Given the description of an element on the screen output the (x, y) to click on. 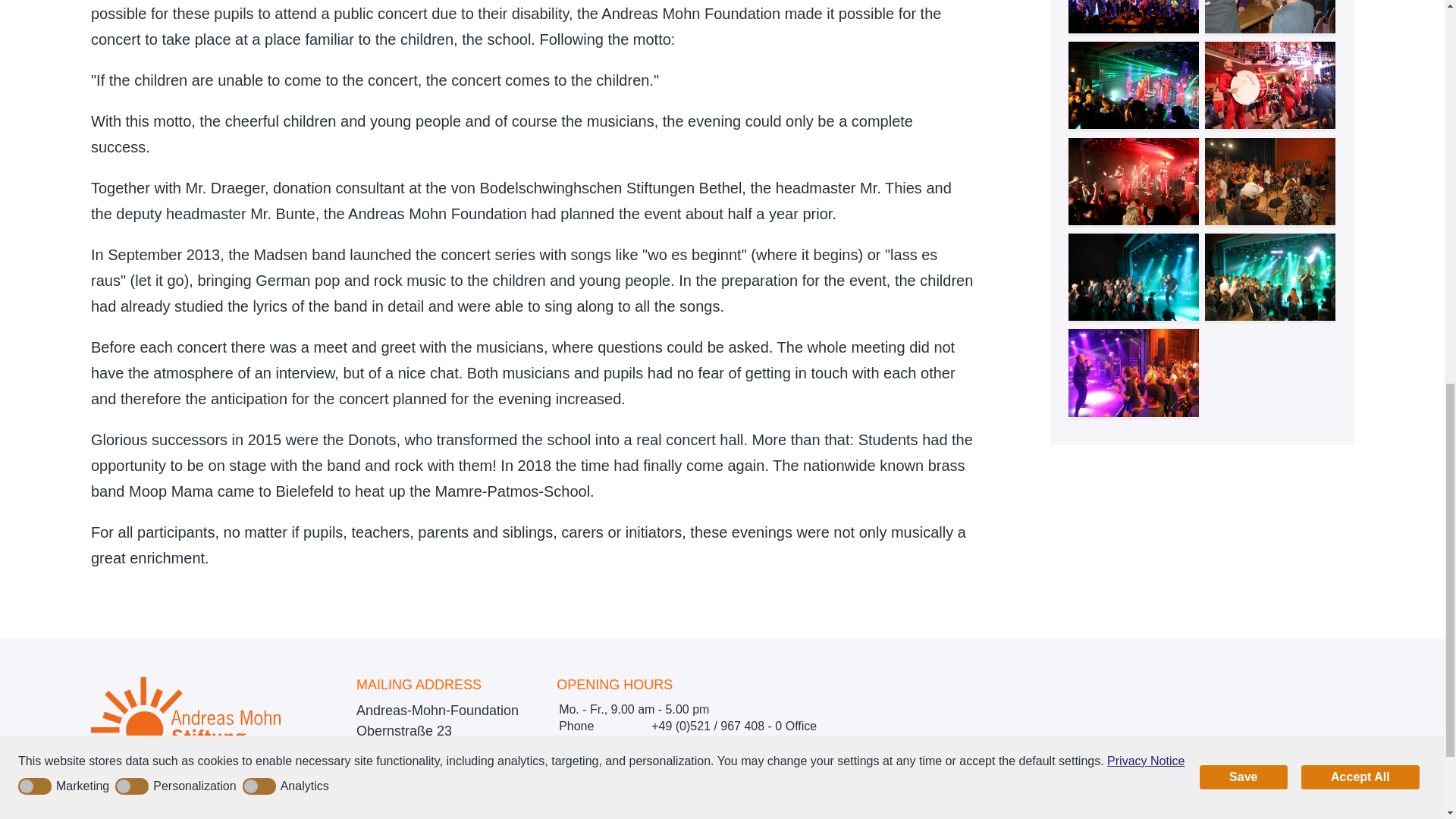
Moop Mama plays between the audience (1270, 84)
Kids sing together with the band  Donots on the stage (1133, 16)
Band Moop Mamma on stange (1133, 84)
Moop Mamma on stage (1133, 181)
Band members sign autographes for the pupils (1270, 16)
